Given the description of an element on the screen output the (x, y) to click on. 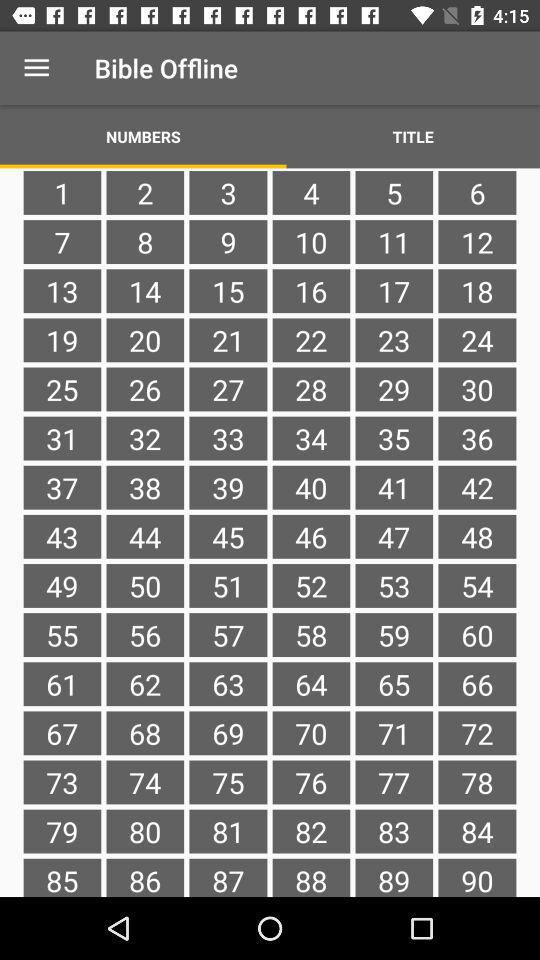
swipe to 79 (62, 831)
